Given the description of an element on the screen output the (x, y) to click on. 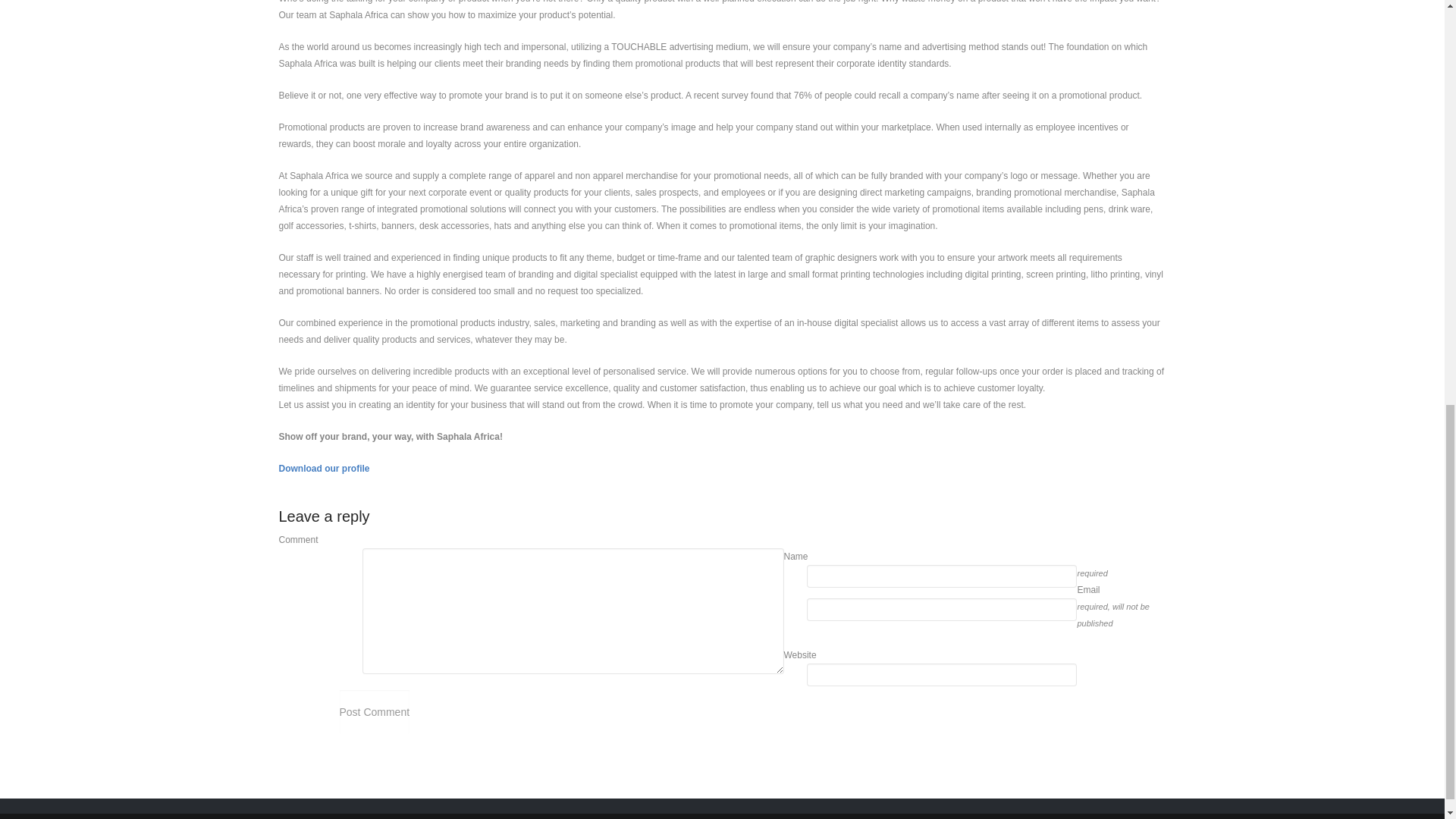
Post Comment (374, 711)
Post Comment (374, 711)
Download our profile (324, 468)
